Given the description of an element on the screen output the (x, y) to click on. 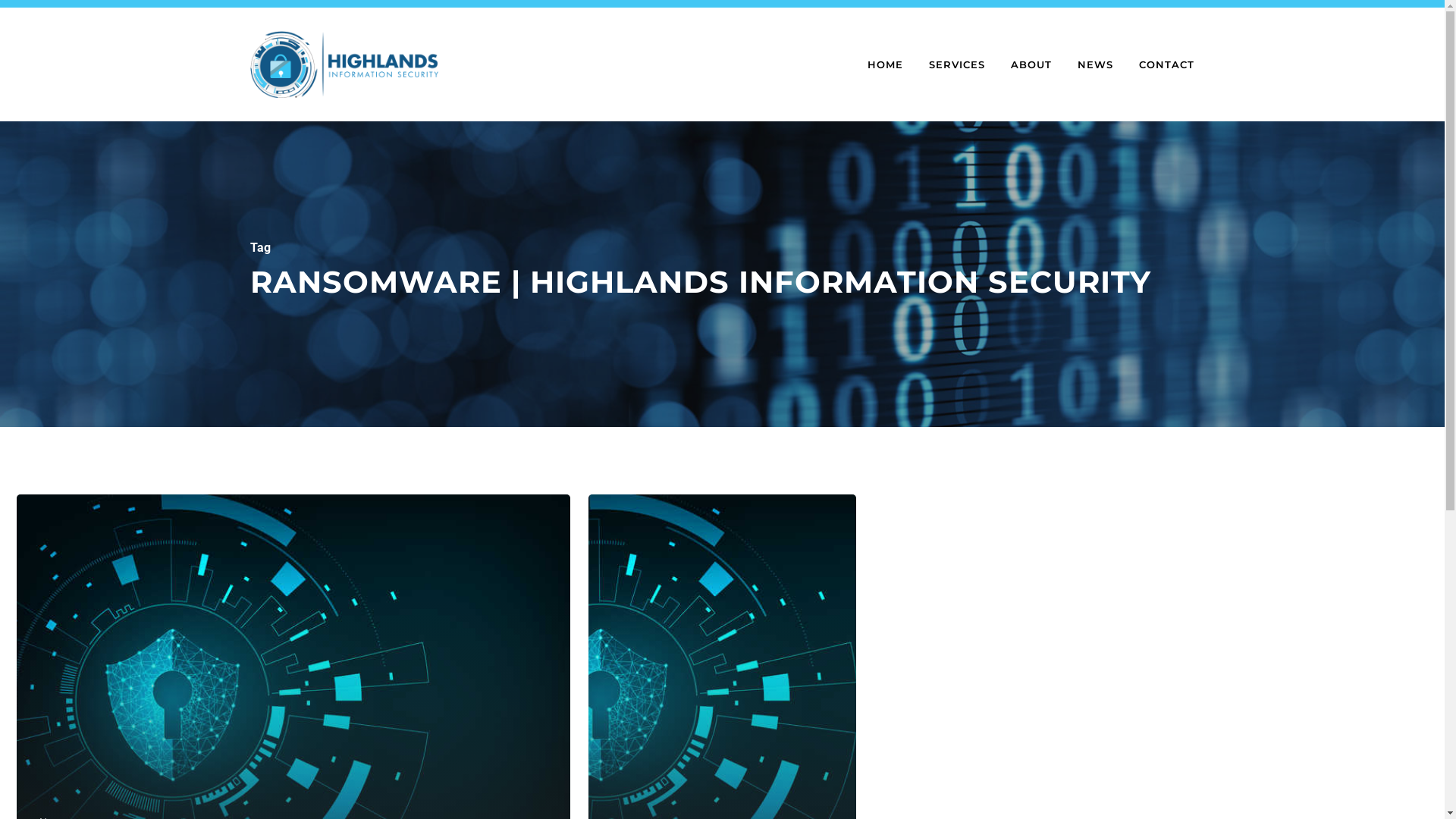
ABOUT Element type: text (1030, 64)
HOME Element type: text (885, 64)
NEWS Element type: text (1095, 64)
SERVICES Element type: text (956, 64)
CONTACT Element type: text (1166, 64)
